Given the description of an element on the screen output the (x, y) to click on. 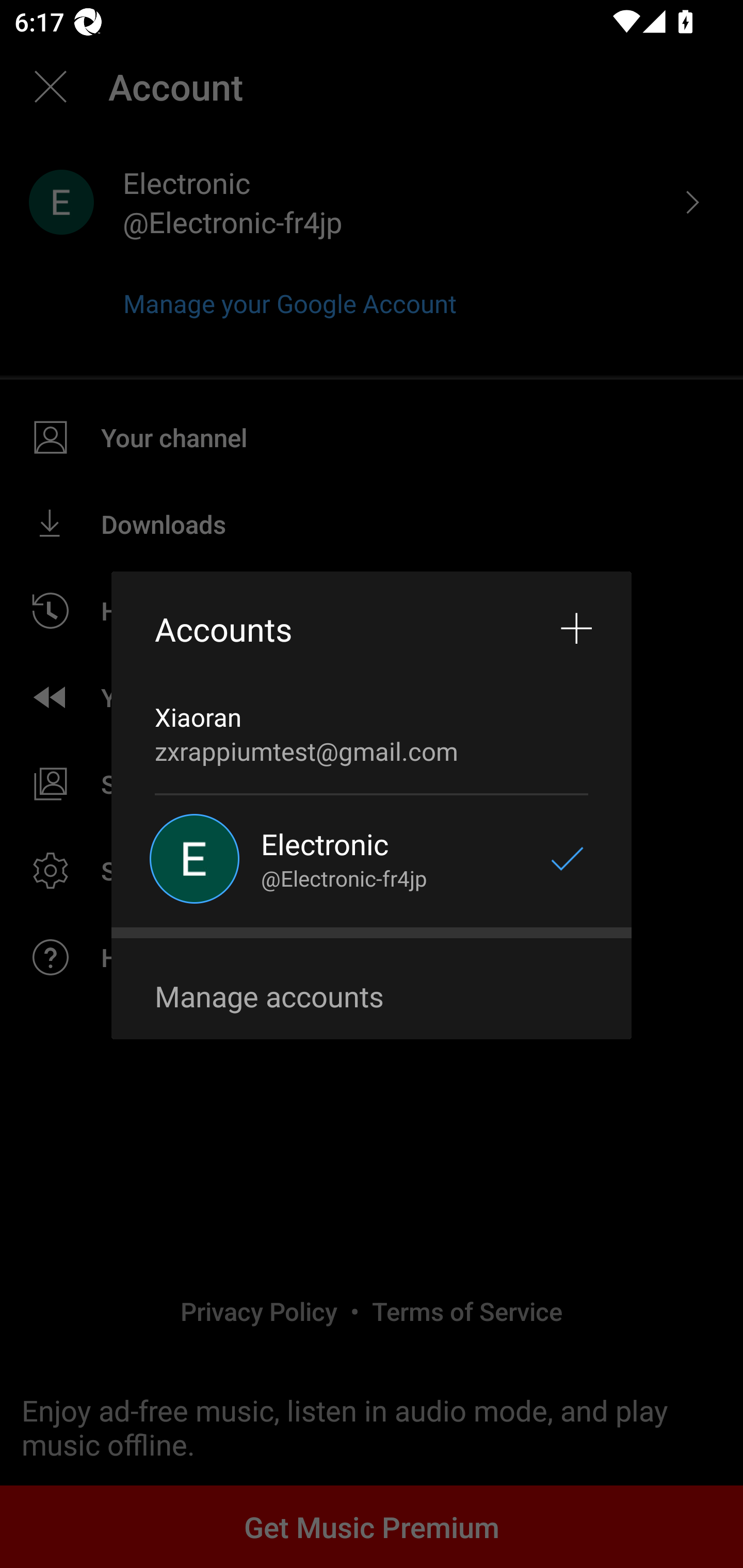
Add account (577, 629)
Manage accounts (371, 996)
